Given the description of an element on the screen output the (x, y) to click on. 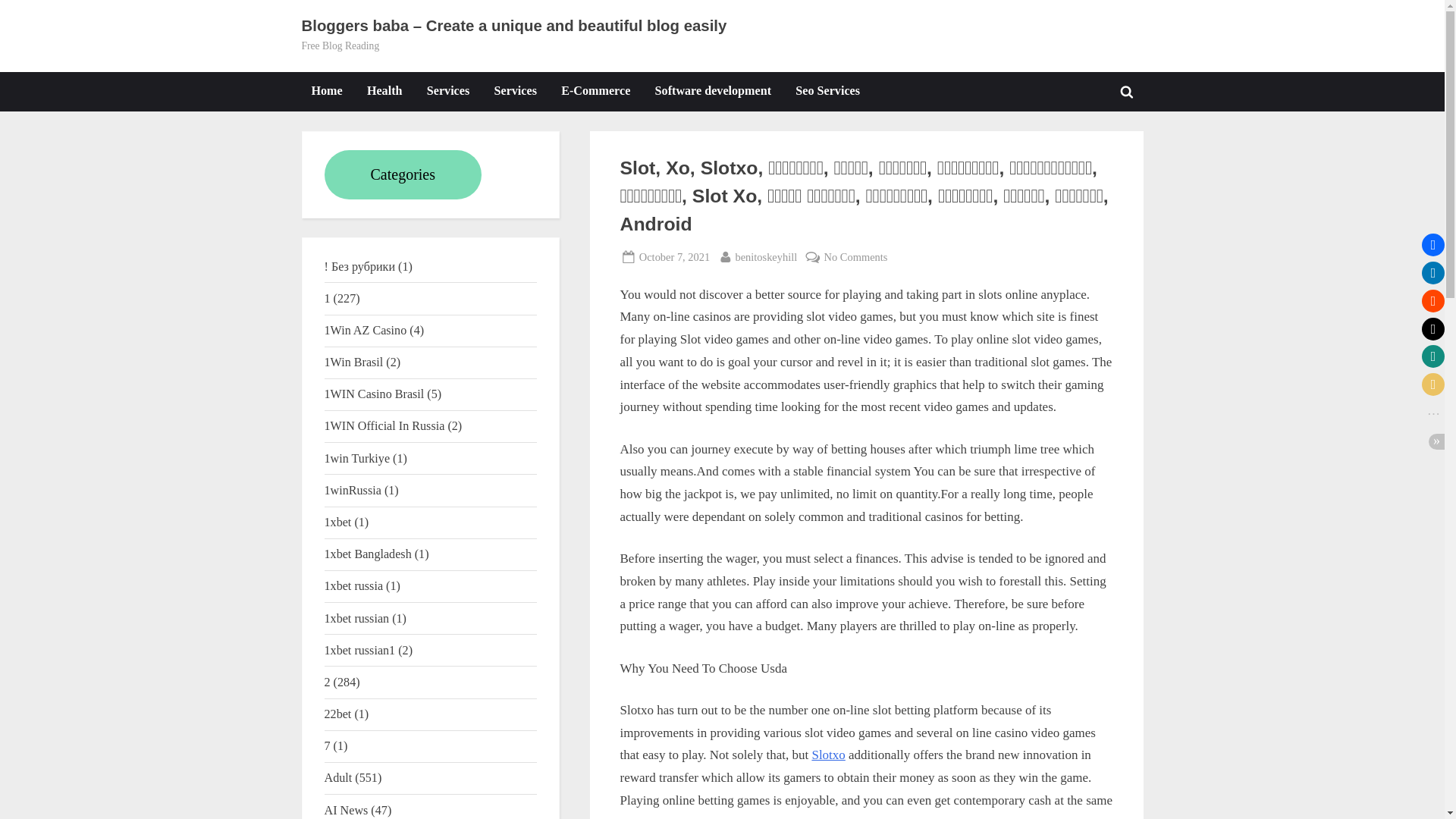
1xbet Bangladesh (368, 553)
Toggle search form (1126, 91)
22bet (338, 713)
Adult (338, 777)
Software development (712, 91)
Categories (402, 174)
1WIN Official In Russia (384, 425)
Services (515, 91)
Seo Services (827, 91)
Health (384, 91)
1win Turkiye (357, 458)
1xbet russian (357, 617)
1xbet (338, 521)
Slotxo (765, 257)
